Given the description of an element on the screen output the (x, y) to click on. 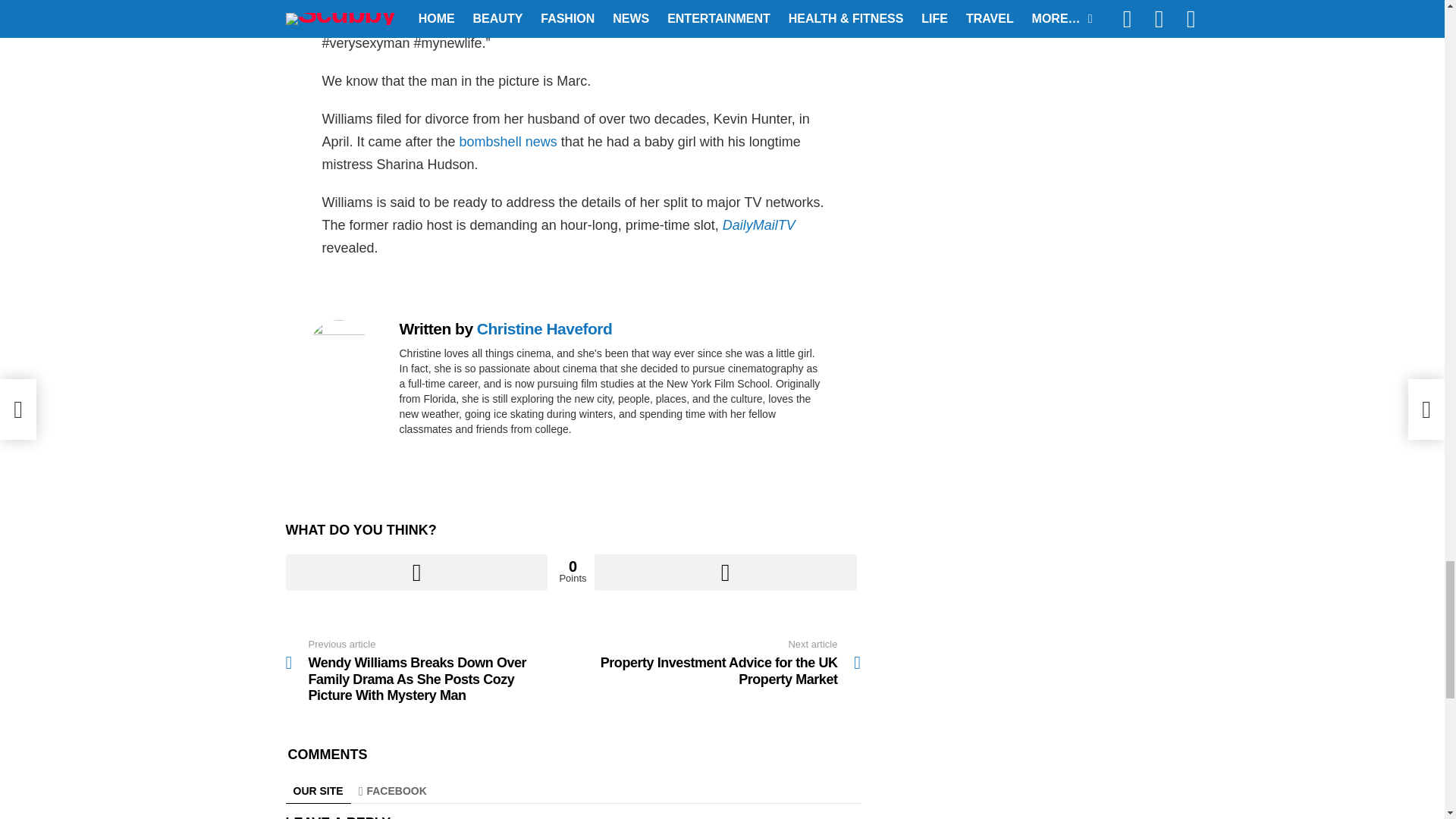
Downvote (725, 572)
Upvote (416, 572)
 DailyMailTV (756, 224)
Downvote (725, 572)
Christine Haveford (544, 328)
Upvote (416, 572)
OUR SITE (317, 790)
bombshell news (508, 141)
